Given the description of an element on the screen output the (x, y) to click on. 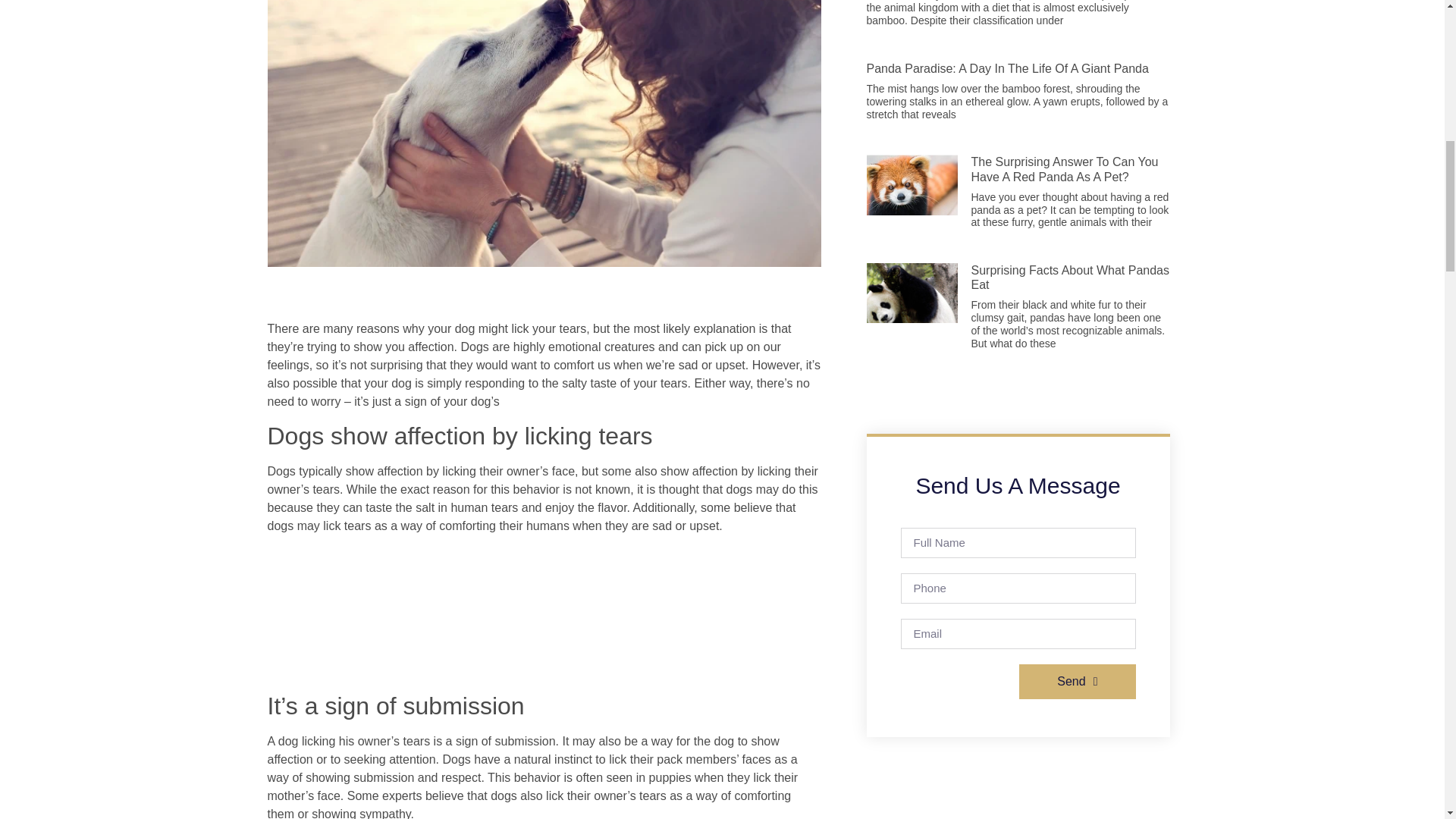
The Surprising Answer To Can You Have A Red Panda As A Pet? (1064, 168)
Advertisement (543, 616)
Send (1077, 681)
Panda Paradise: A Day In The Life Of A Giant Panda (1007, 68)
Surprising Facts About What Pandas Eat (1070, 277)
